Given the description of an element on the screen output the (x, y) to click on. 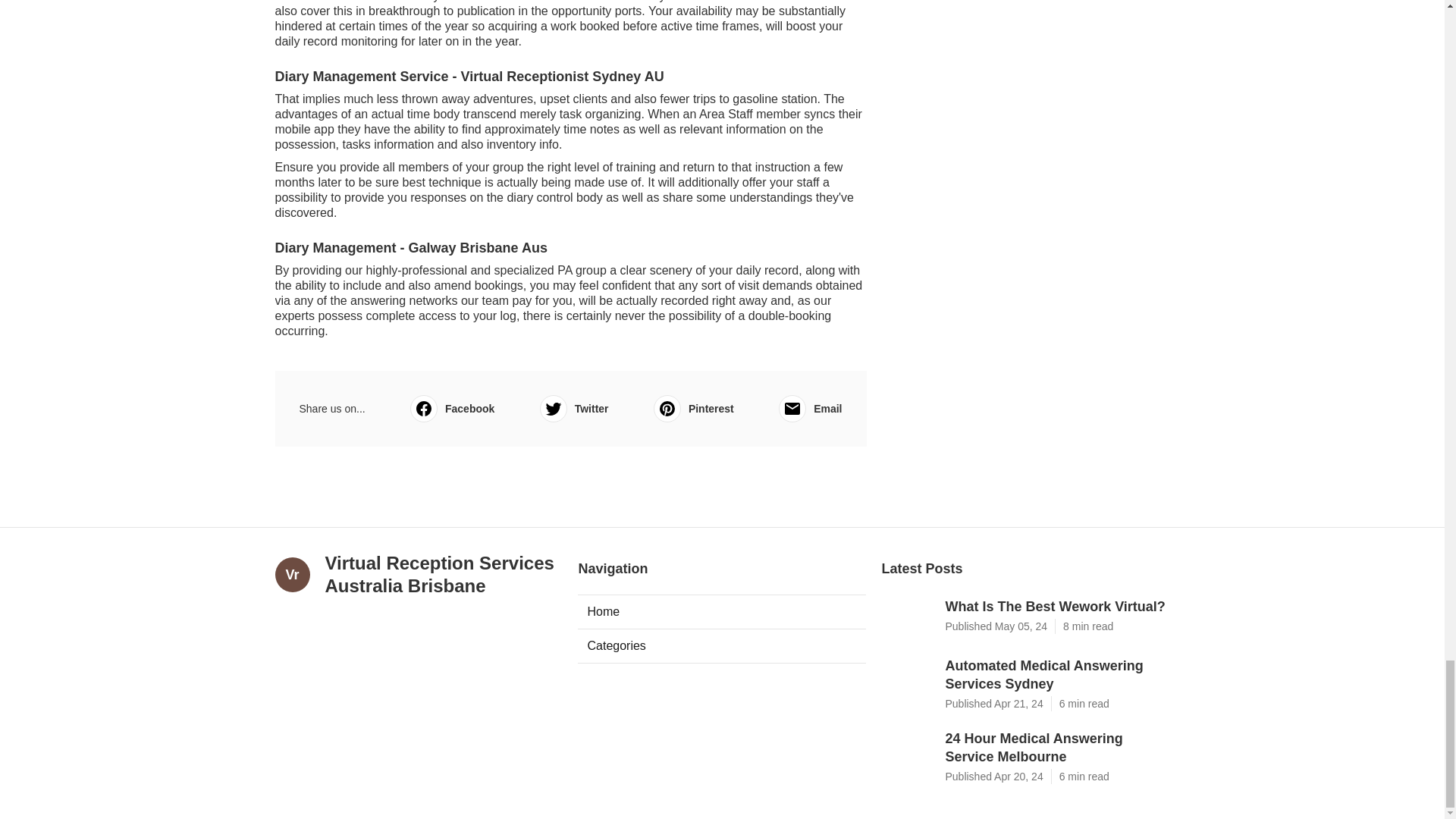
Pinterest (693, 408)
Twitter (574, 408)
Facebook (452, 408)
